Given the description of an element on the screen output the (x, y) to click on. 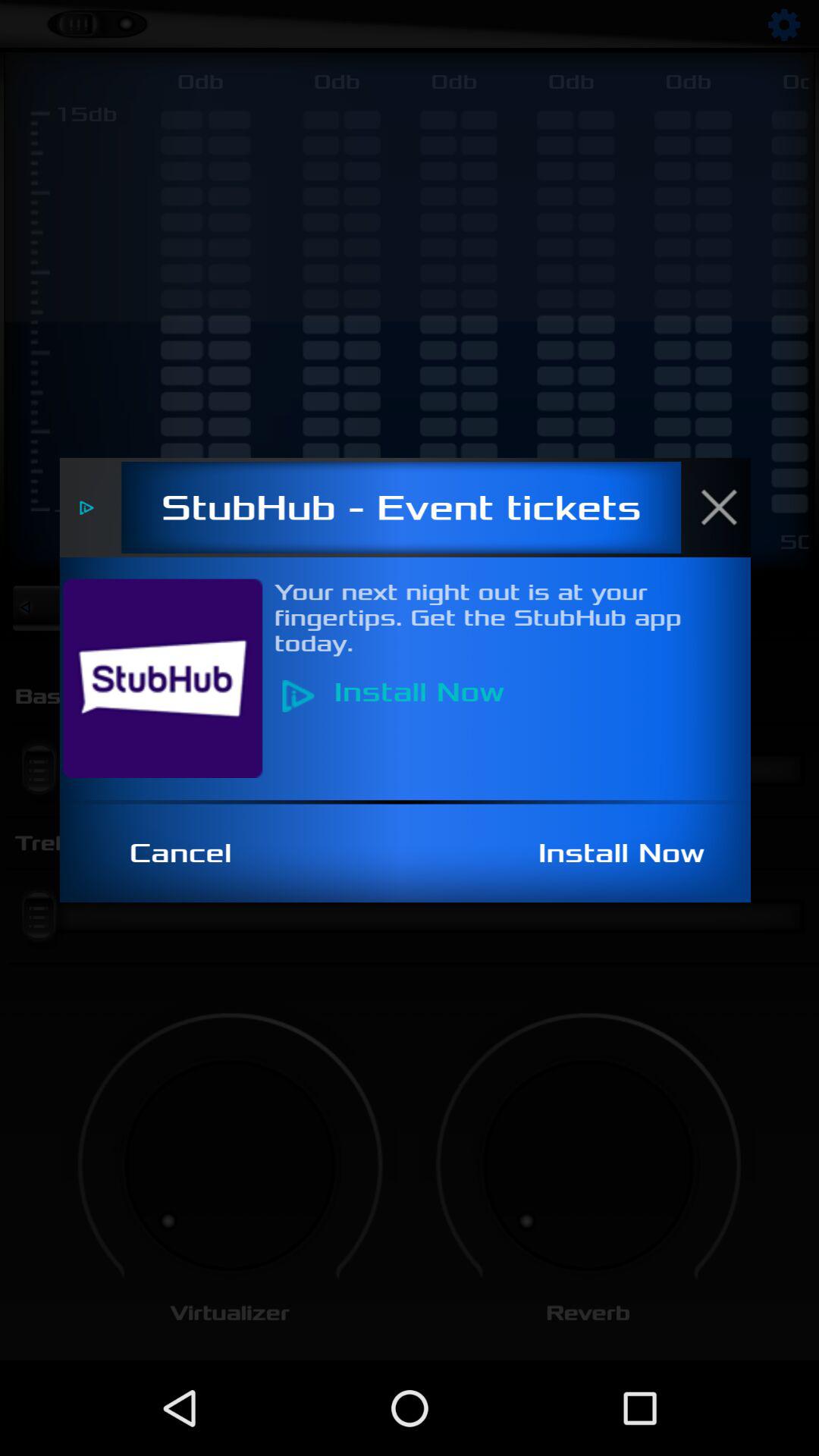
tap the icon next to your next night item (170, 678)
